Given the description of an element on the screen output the (x, y) to click on. 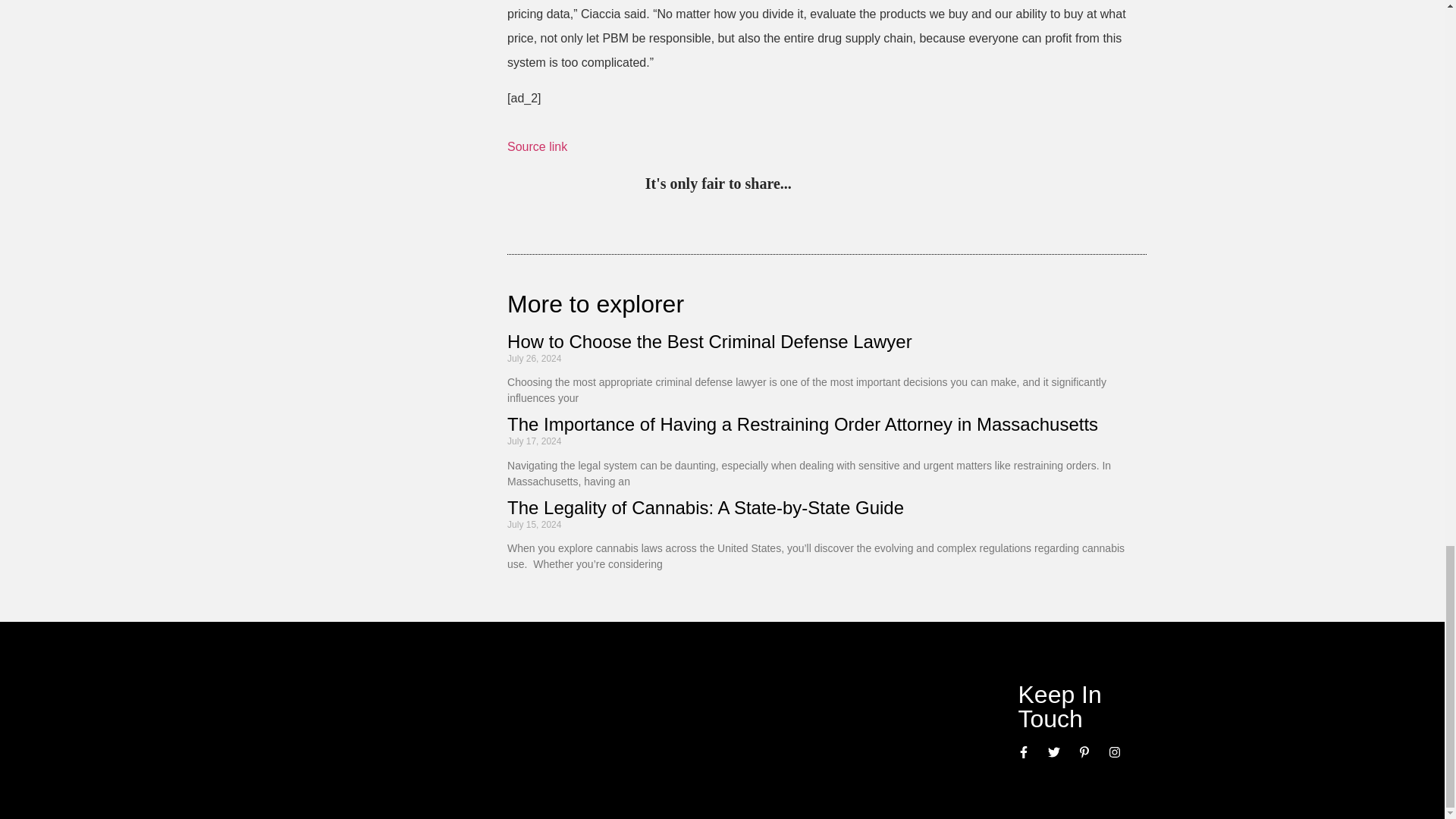
twitter (837, 184)
linkedin (869, 184)
google (900, 184)
Source link (536, 146)
print (993, 184)
pinterest (807, 184)
facebook (931, 184)
email (962, 184)
